Given the description of an element on the screen output the (x, y) to click on. 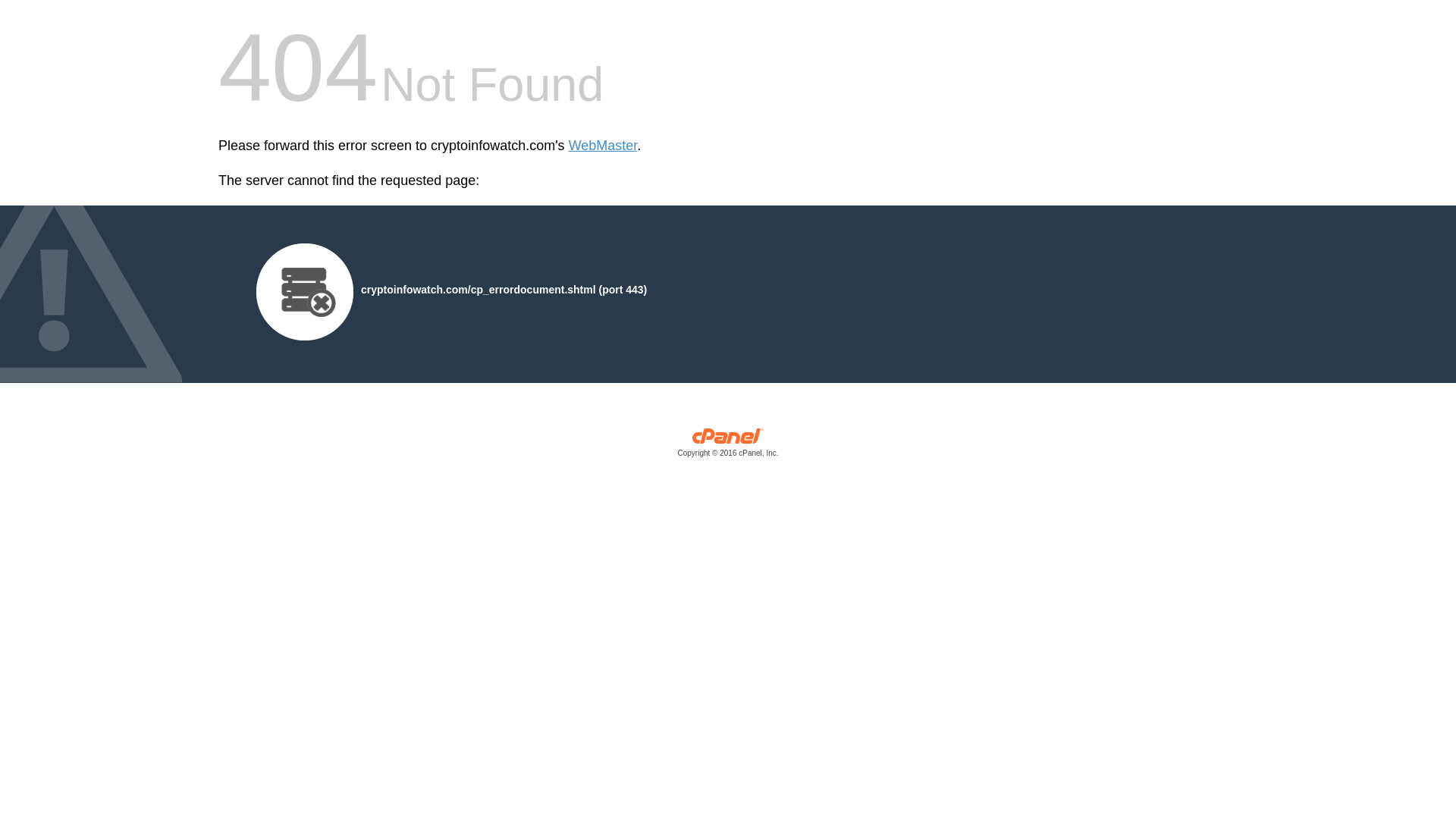
cPanel, Inc. (727, 446)
WebMaster (603, 145)
